Given the description of an element on the screen output the (x, y) to click on. 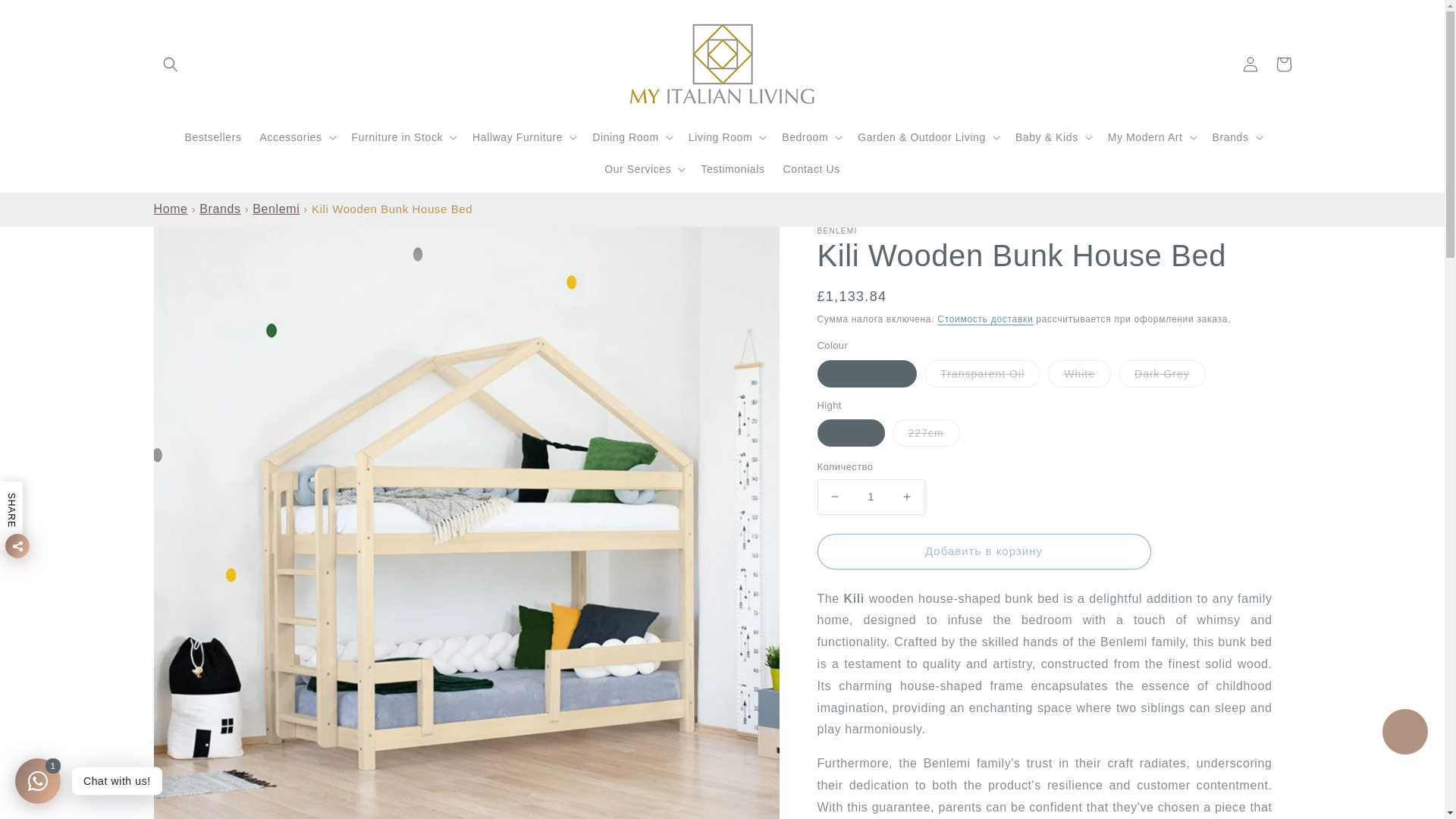
1 (870, 497)
Brands (219, 208)
Benlemi (275, 208)
Home (169, 208)
